Given the description of an element on the screen output the (x, y) to click on. 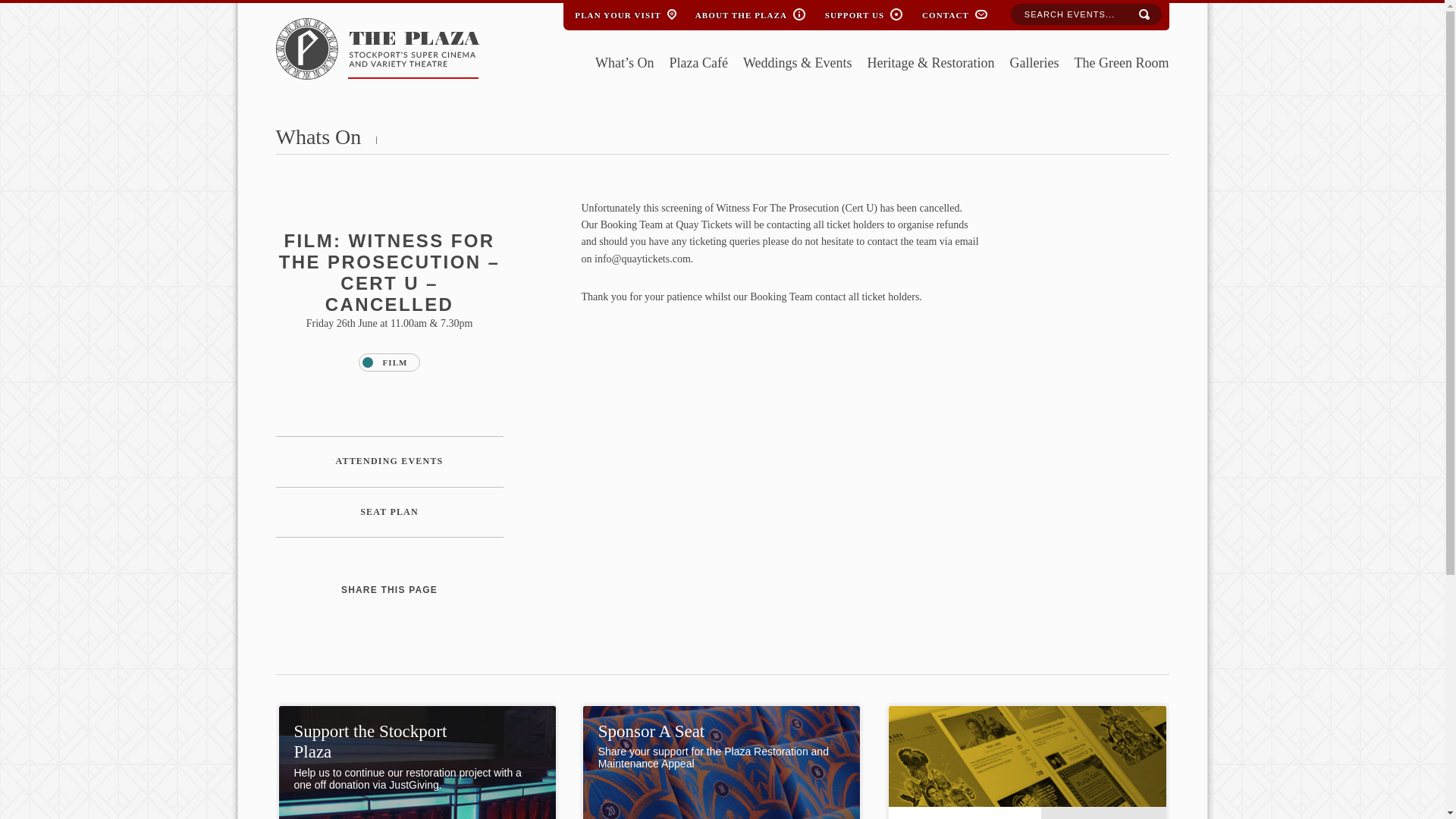
FILM (388, 361)
ABOUT THE PLAZA (740, 12)
SUPPORT US (854, 12)
ATTENDING EVENTS (389, 461)
PLAN YOUR VISIT (617, 12)
Whats On (318, 136)
The Green Room (1121, 64)
submit (1143, 15)
CONTACT (945, 12)
SEAT PLAN (389, 512)
submit (1143, 15)
Galleries (1034, 64)
